Given the description of an element on the screen output the (x, y) to click on. 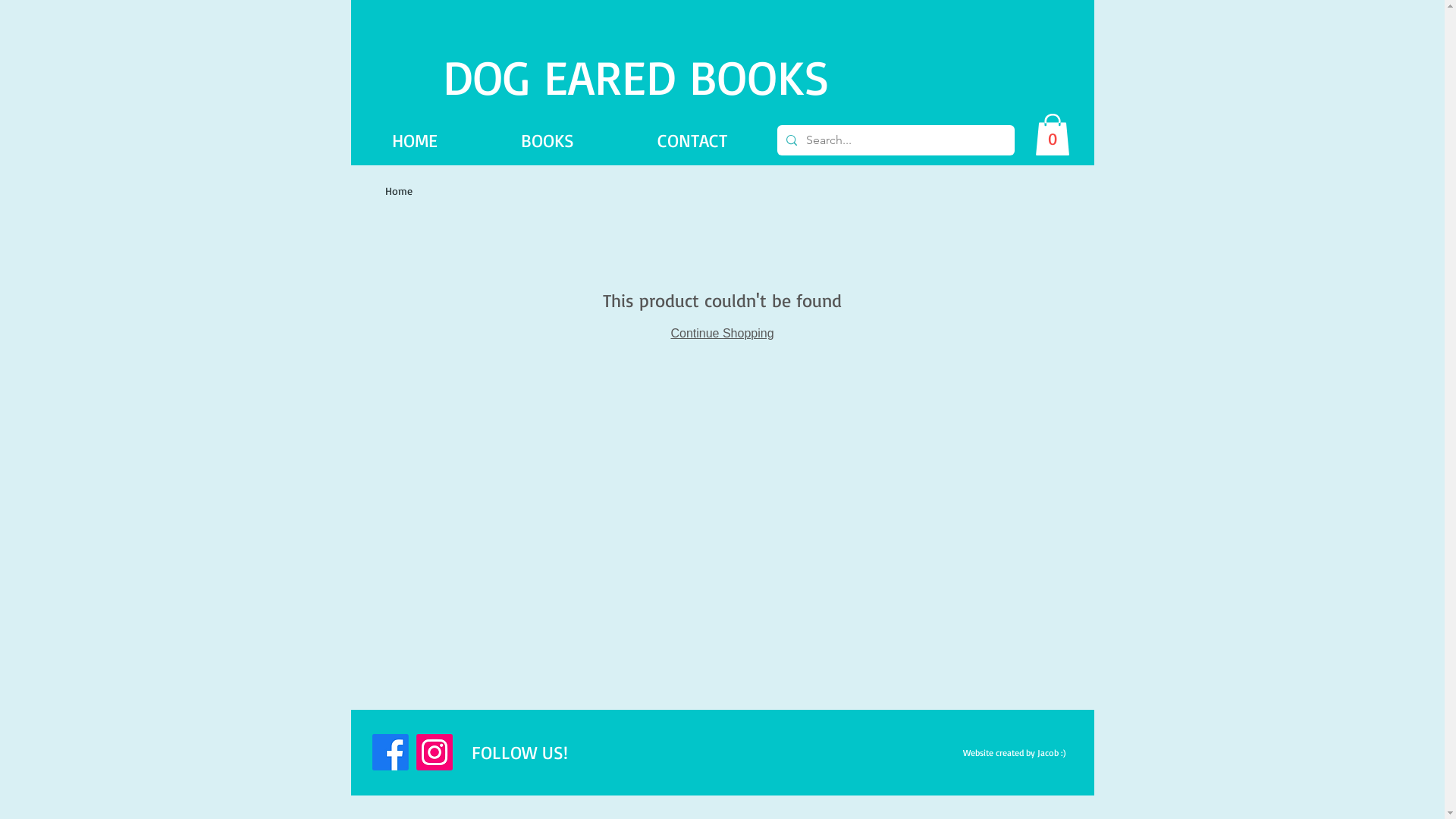
0 Element type: text (1051, 134)
Home Element type: text (398, 190)
Continue Shopping Element type: text (721, 332)
Conversion Popup Element type: hover (722, 15)
HOME Element type: text (414, 140)
BOOKS Element type: text (547, 140)
CONTACT Element type: text (691, 140)
